Given the description of an element on the screen output the (x, y) to click on. 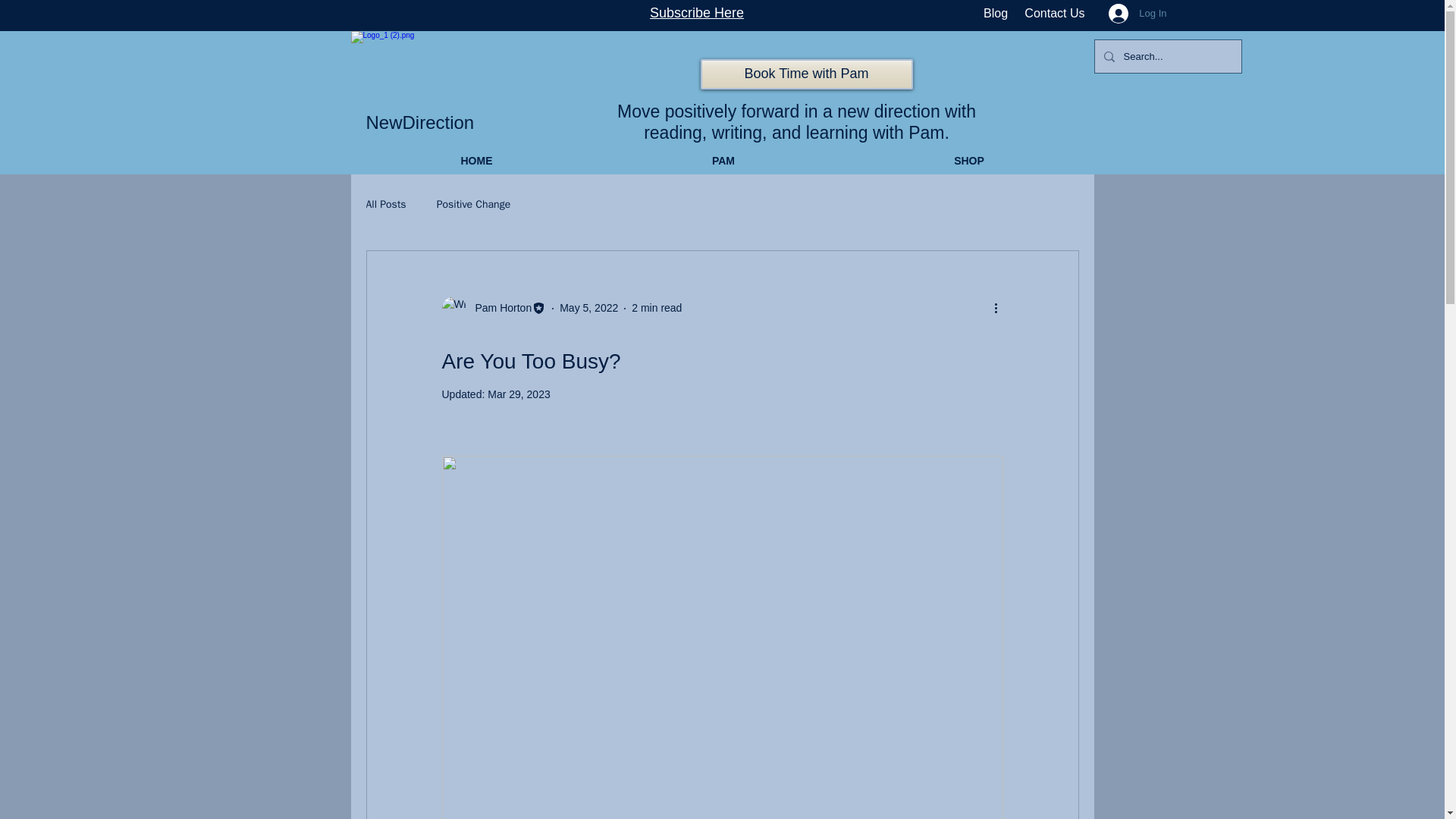
Book Time with Pam (806, 73)
NewDirection (419, 122)
Positive Change (473, 204)
Contact Us (1054, 12)
May 5, 2022 (588, 307)
Pam Horton (493, 308)
Subscribe Here (696, 12)
Mar 29, 2023 (518, 394)
HOME (476, 161)
SHOP (969, 161)
